Given the description of an element on the screen output the (x, y) to click on. 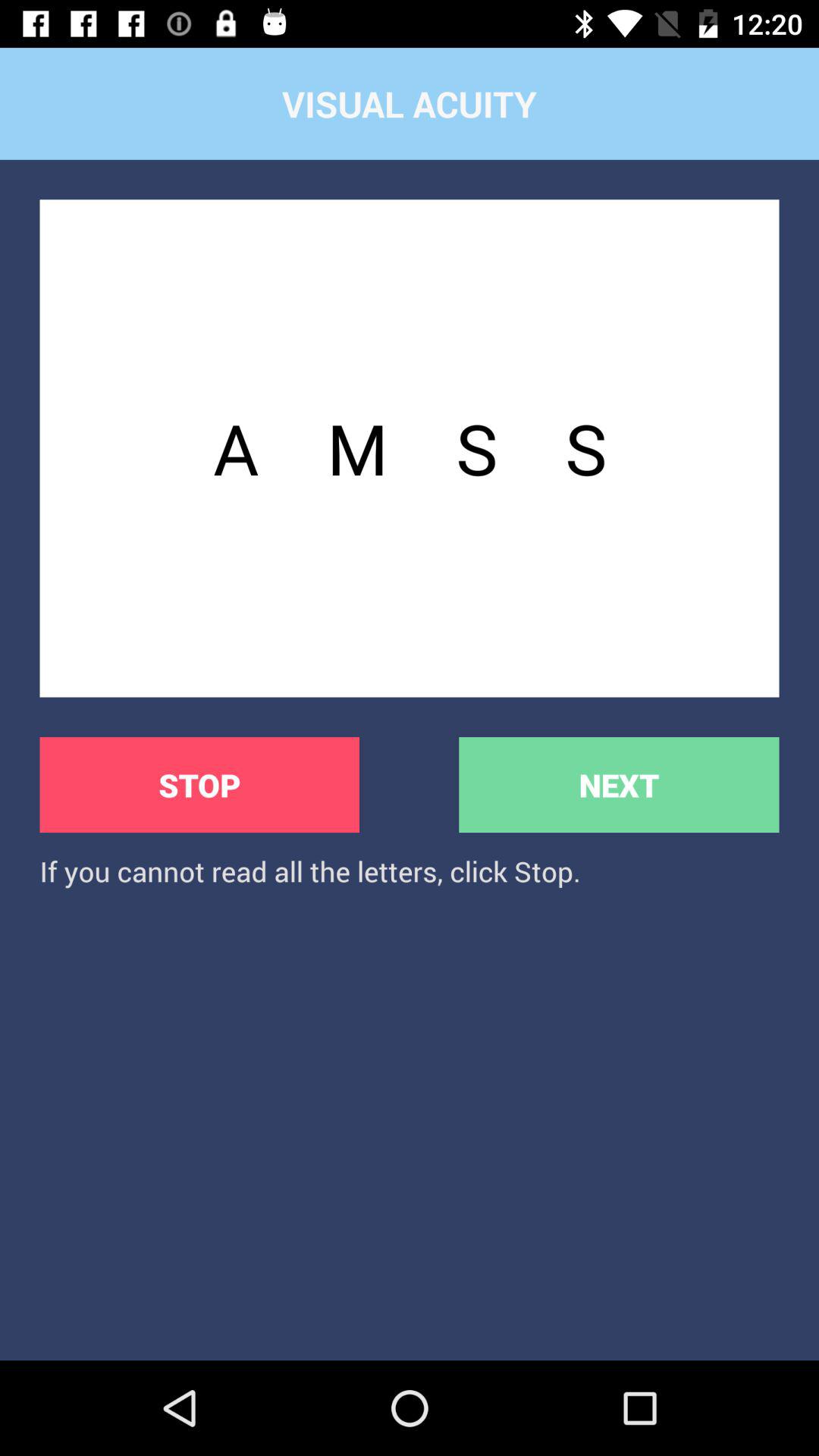
choose button to the right of stop item (618, 784)
